Given the description of an element on the screen output the (x, y) to click on. 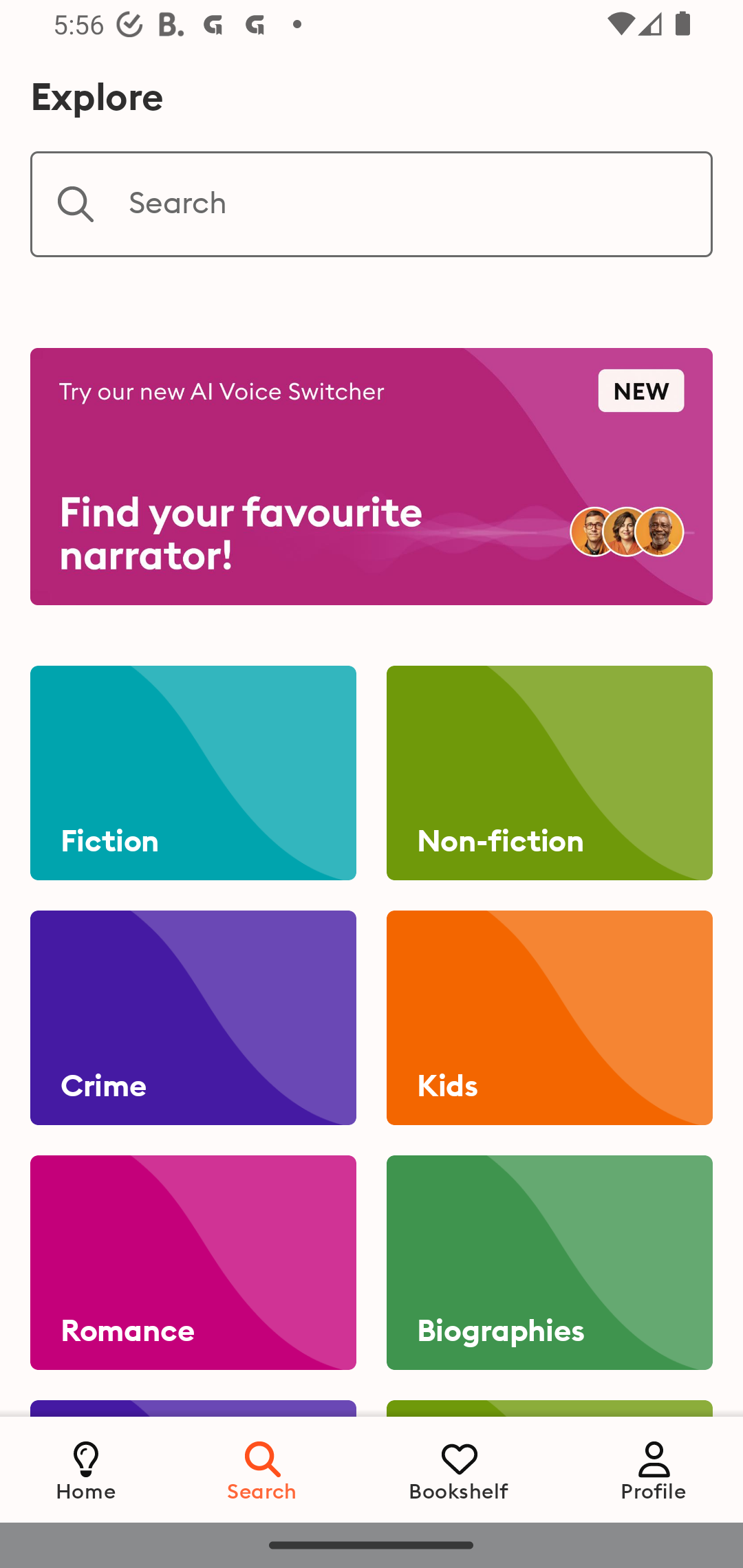
Search (371, 203)
Fiction (193, 772)
Non-fiction (549, 772)
Crime (193, 1018)
Kids (549, 1018)
Romance (193, 1262)
Biographies (549, 1262)
Home (85, 1468)
Search (262, 1468)
Bookshelf (458, 1468)
Profile (653, 1468)
